Given the description of an element on the screen output the (x, y) to click on. 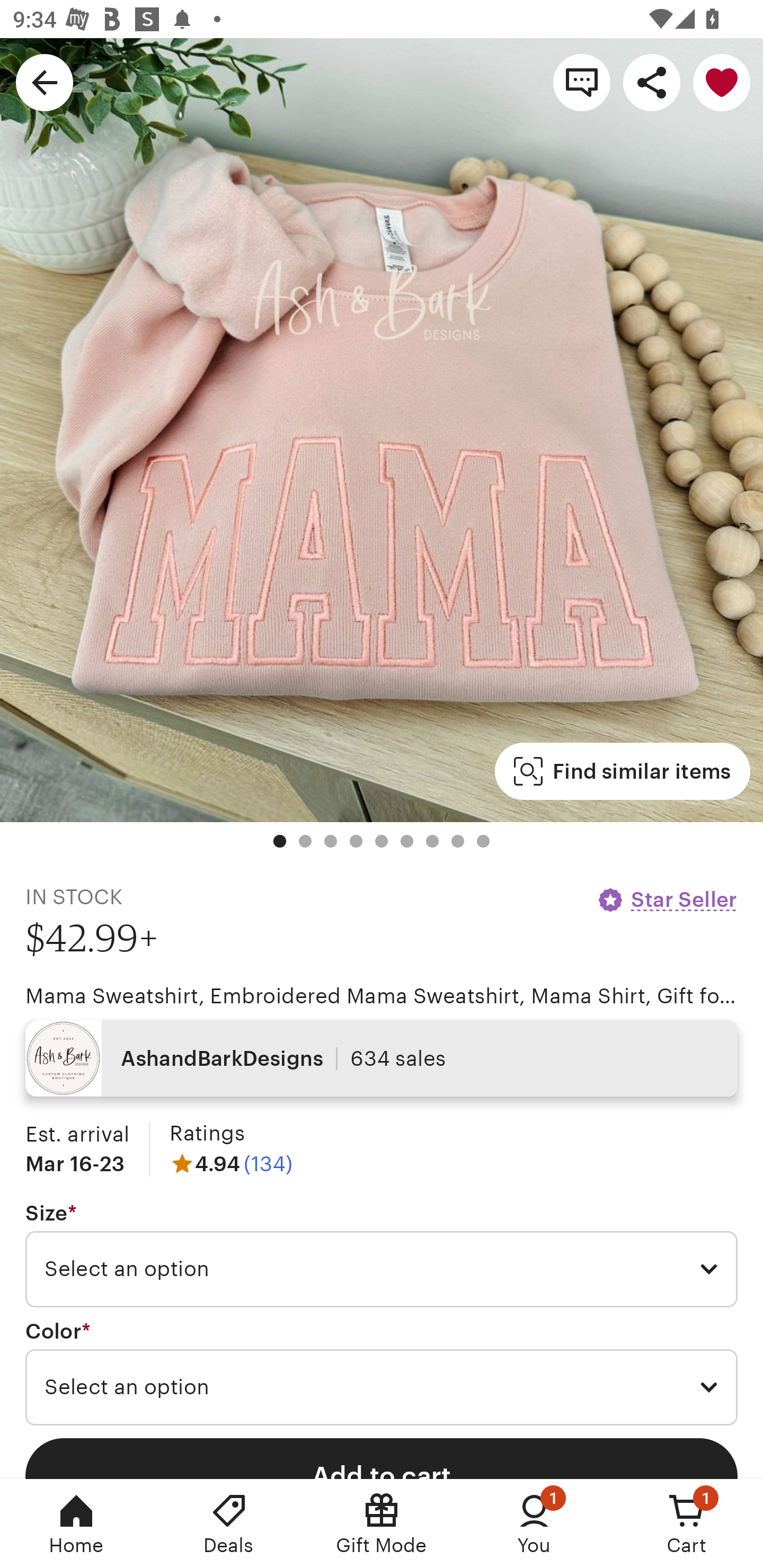
Navigate up (44, 81)
Contact shop (581, 81)
Share (651, 81)
Find similar items (622, 771)
Star Seller (666, 899)
AshandBarkDesigns 634 sales (381, 1058)
Ratings (206, 1133)
4.94 (134) (230, 1163)
Size * Required Select an option (381, 1254)
Select an option (381, 1268)
Color * Required Select an option (381, 1372)
Select an option (381, 1386)
Deals (228, 1523)
Gift Mode (381, 1523)
You, 1 new notification You (533, 1523)
Cart, 1 new notification Cart (686, 1523)
